Given the description of an element on the screen output the (x, y) to click on. 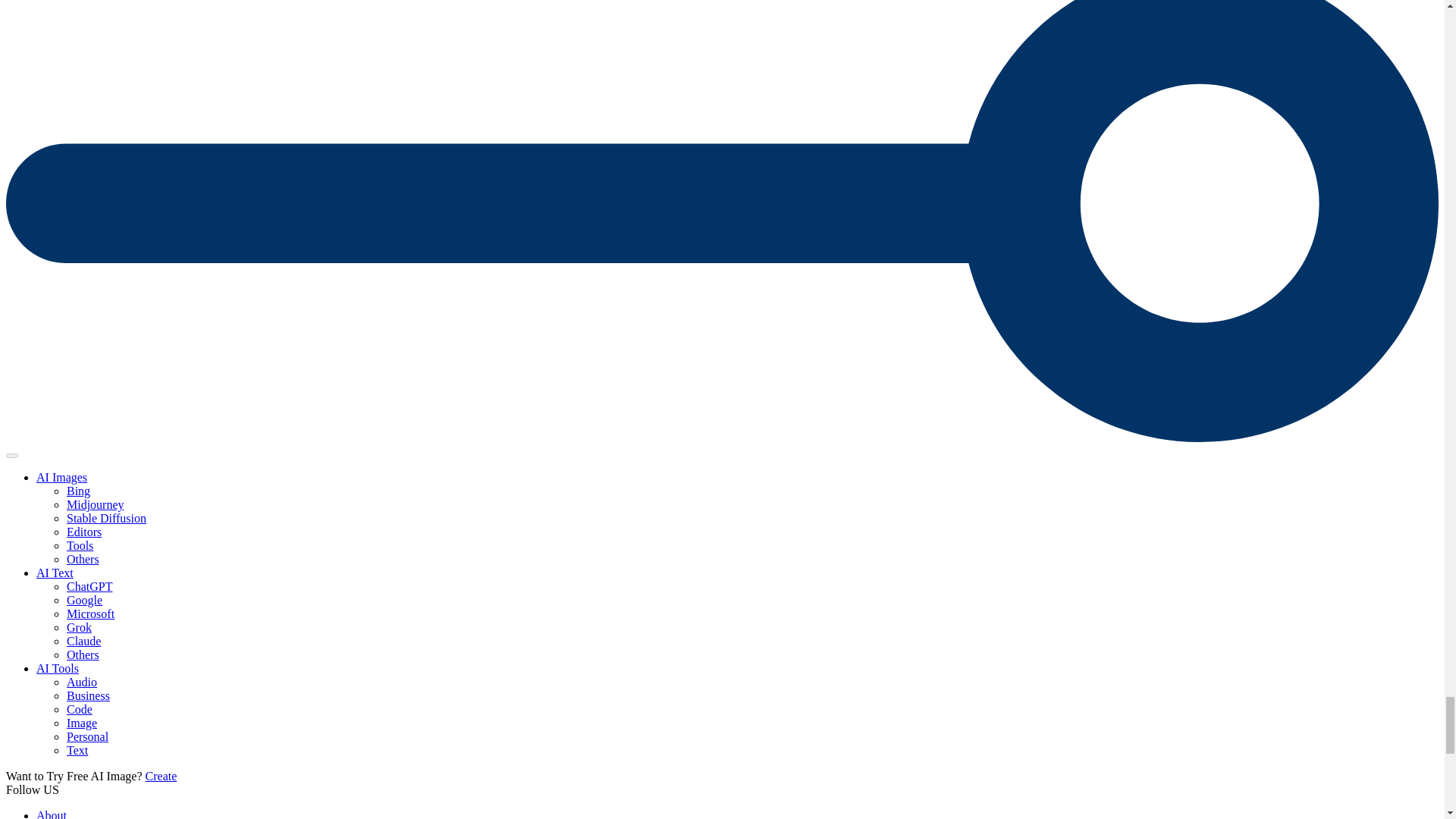
Stable Diffusion (106, 517)
Grok (78, 626)
Midjourney (94, 504)
Editors (83, 531)
Google (83, 599)
Text (76, 749)
Create (161, 775)
Audio (81, 681)
Business (88, 695)
Personal (86, 736)
AI Tools (57, 667)
AI Text (55, 572)
Bing (78, 490)
Microsoft (90, 613)
ChatGPT (89, 585)
